Given the description of an element on the screen output the (x, y) to click on. 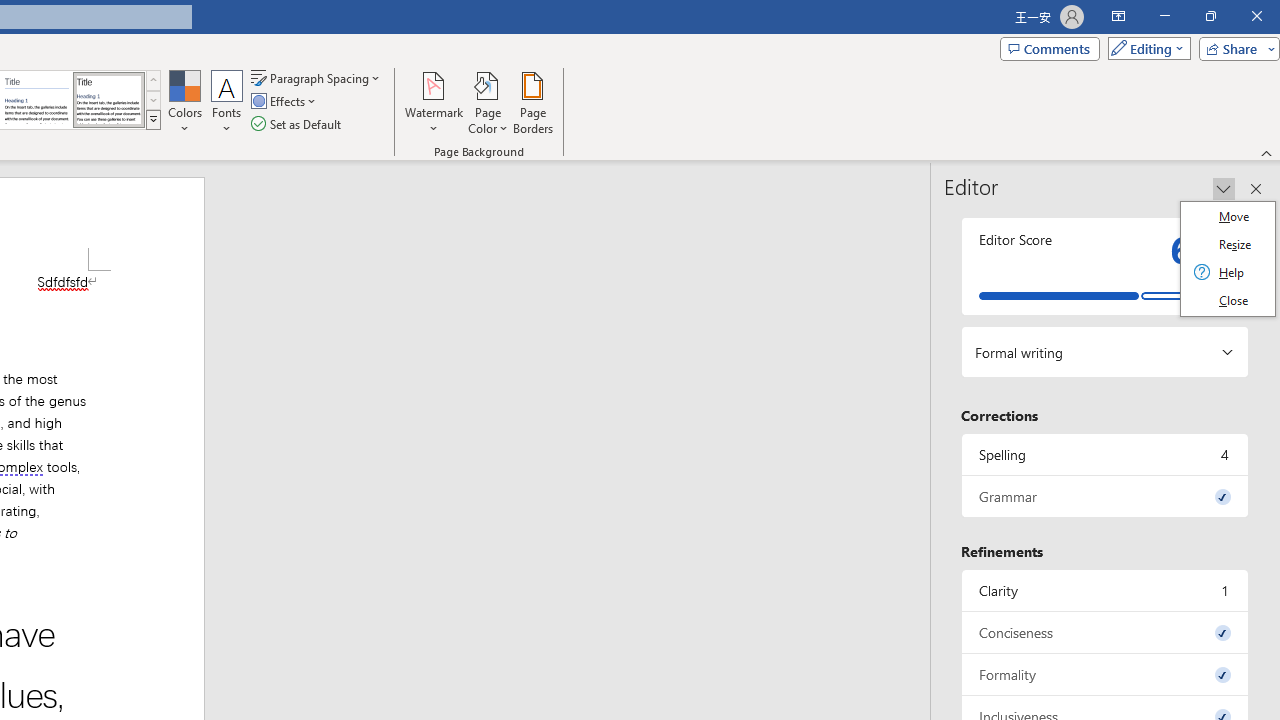
Class: Net UI Tool Window (1228, 258)
Effects (285, 101)
